Given the description of an element on the screen output the (x, y) to click on. 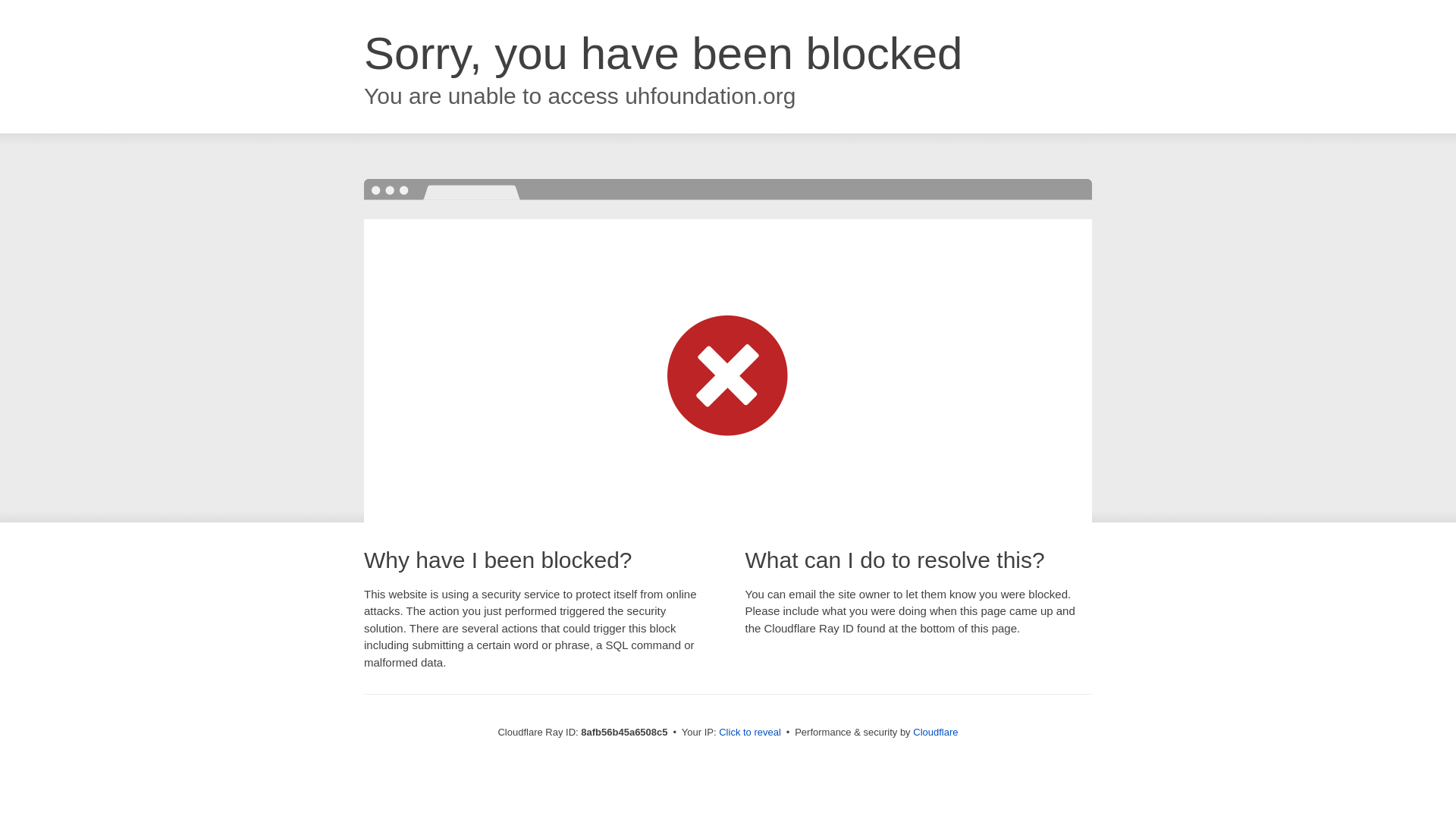
Click to reveal (749, 732)
Cloudflare (935, 731)
